Given the description of an element on the screen output the (x, y) to click on. 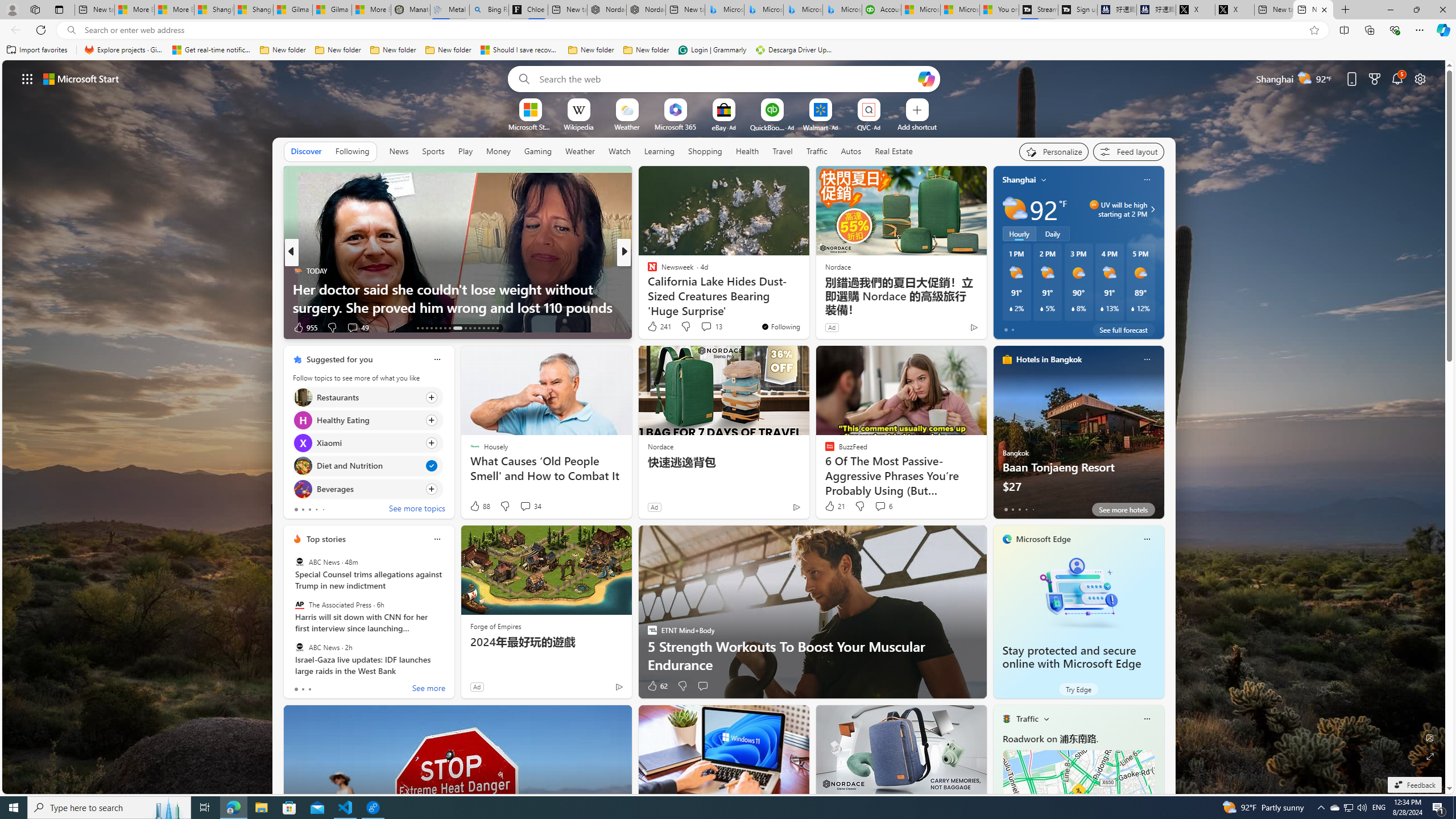
View comments 34 Comment (530, 505)
Autos (850, 151)
Top stories (325, 538)
Autos (851, 151)
Sports (432, 151)
Is coffee good for you? It may depend on your genes (807, 307)
Health (746, 151)
Click to follow topic Healthy Eating (367, 419)
AutomationID: waffle (27, 78)
Traffic (816, 151)
Learning (658, 151)
